Given the description of an element on the screen output the (x, y) to click on. 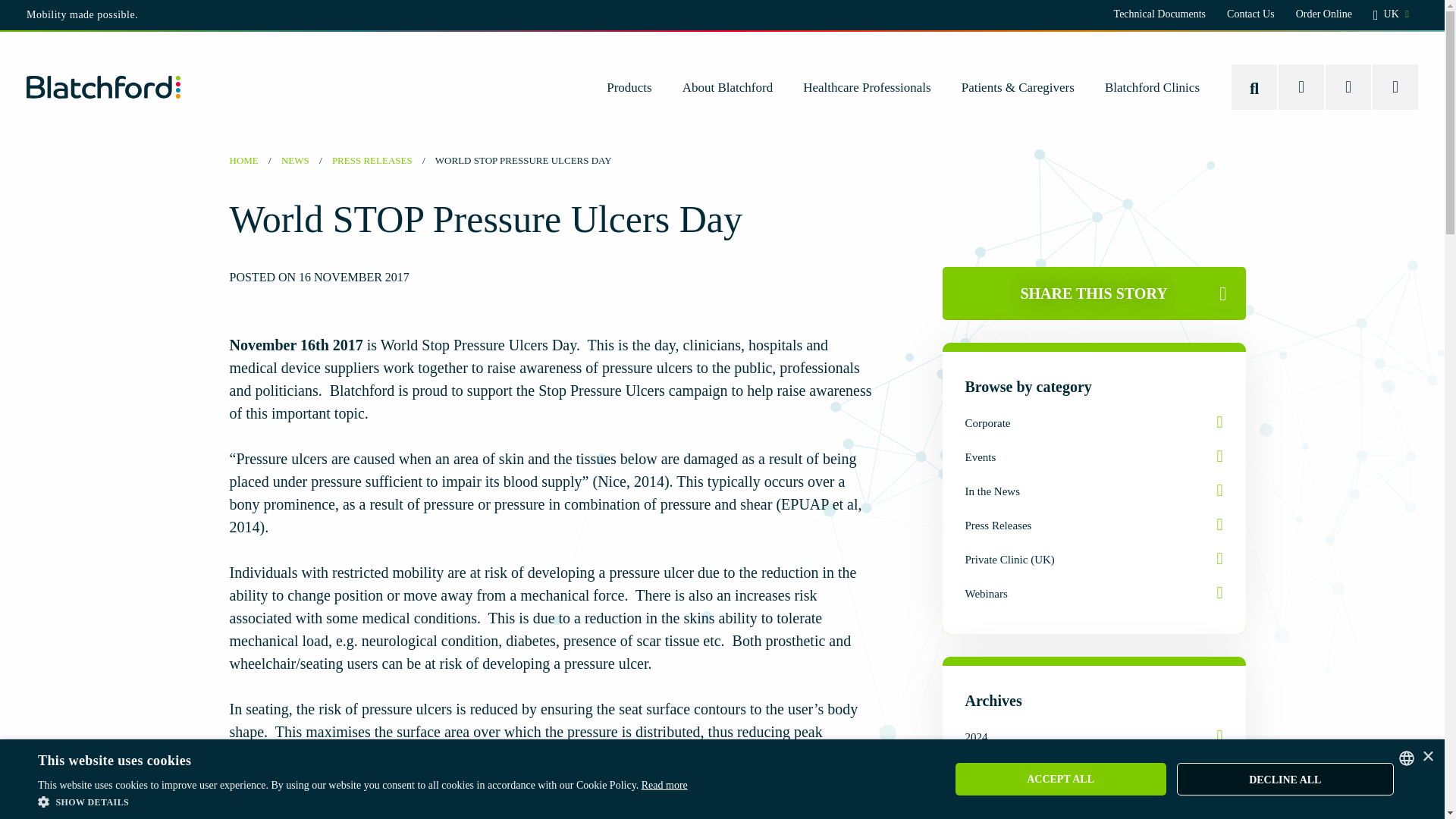
Contact Us (1251, 14)
Order Online (1323, 14)
Products (628, 86)
UK (1391, 15)
Technical Documents (1159, 14)
